Given the description of an element on the screen output the (x, y) to click on. 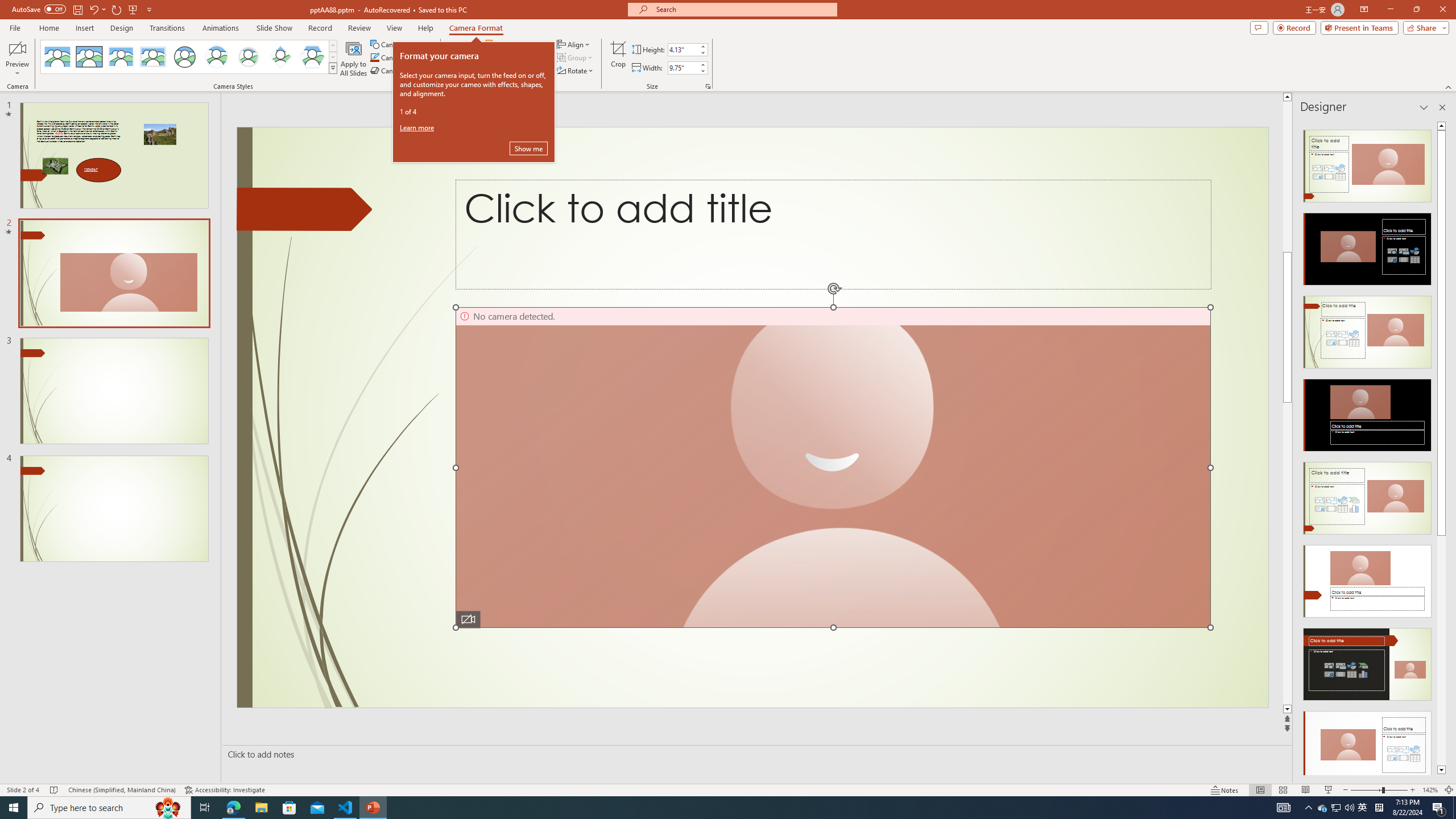
Camera Border Teal, Accent 1 (374, 56)
Recommended Design: Design Idea (1366, 162)
Rotate (575, 69)
Center Shadow Hexagon (312, 56)
Soft Edge Rectangle (152, 56)
AutomationID: CameoStylesGallery (189, 56)
Center Shadow Circle (216, 56)
Camera Styles (333, 67)
